Given the description of an element on the screen output the (x, y) to click on. 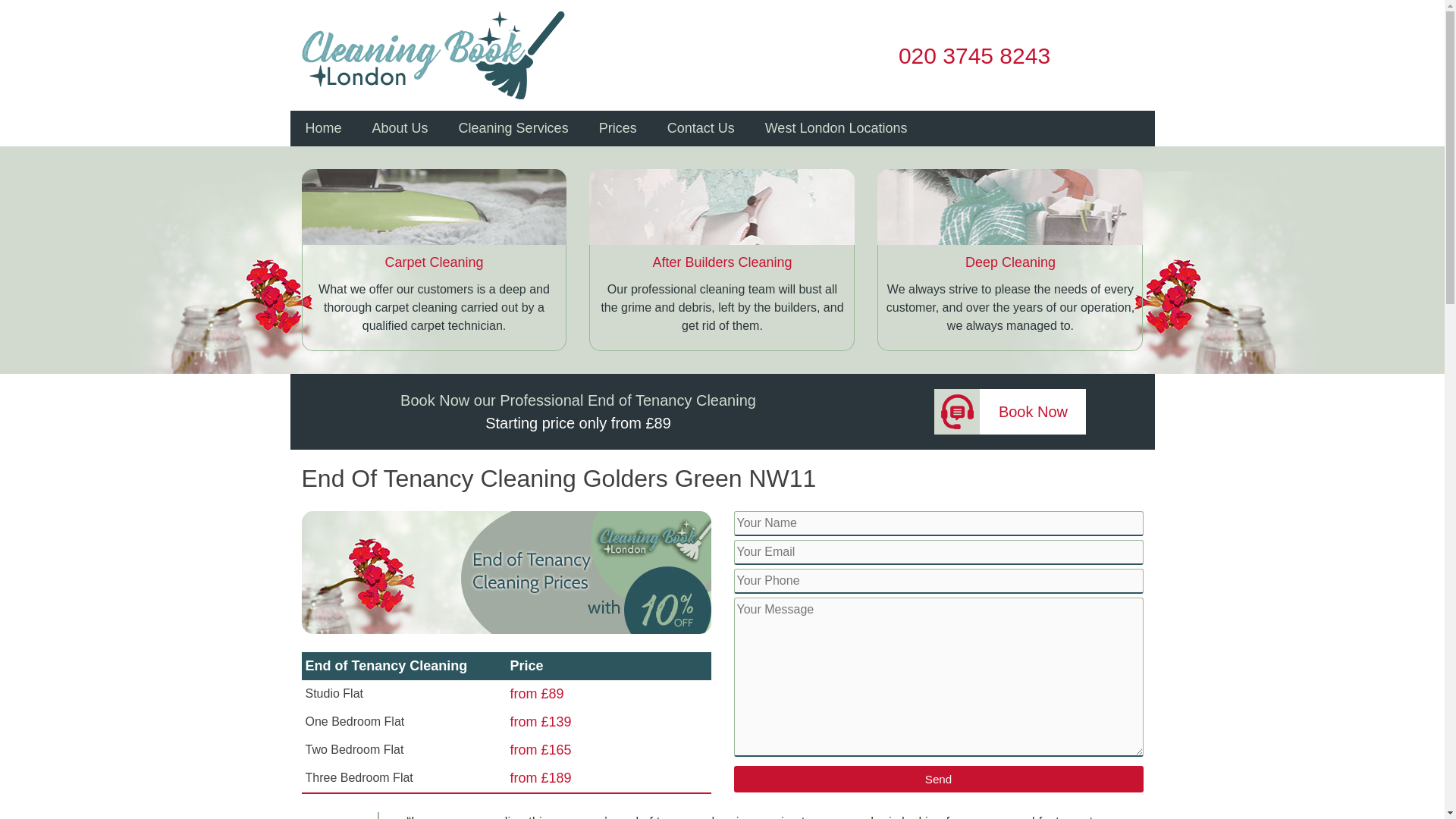
Send (937, 778)
Cleaning Book London (350, 8)
Book Now (1010, 411)
Send (937, 778)
West London Locations (836, 128)
Home (322, 128)
About Us (400, 128)
Cleaning Services (513, 128)
